Given the description of an element on the screen output the (x, y) to click on. 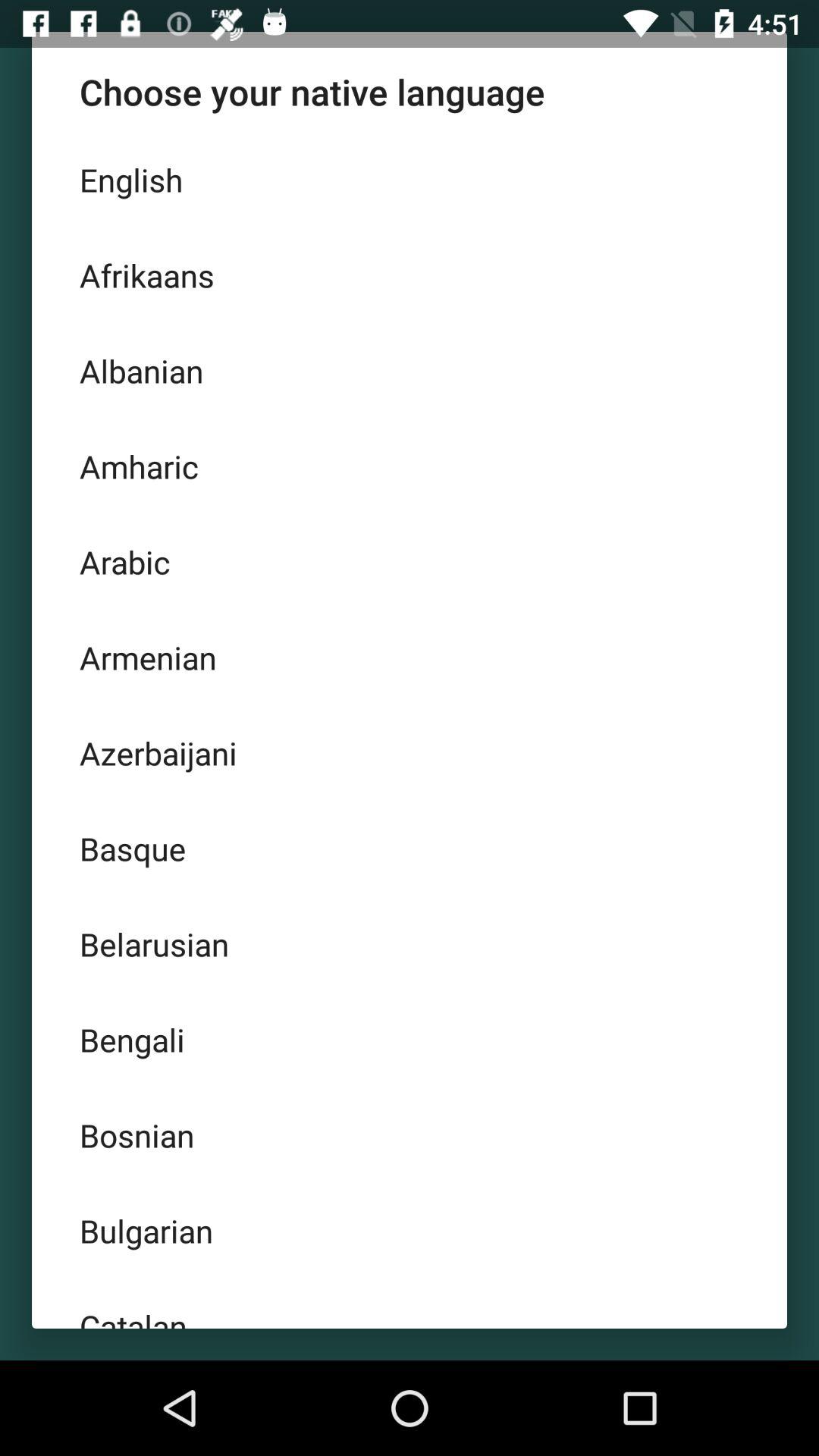
tap the catalan (409, 1303)
